Given the description of an element on the screen output the (x, y) to click on. 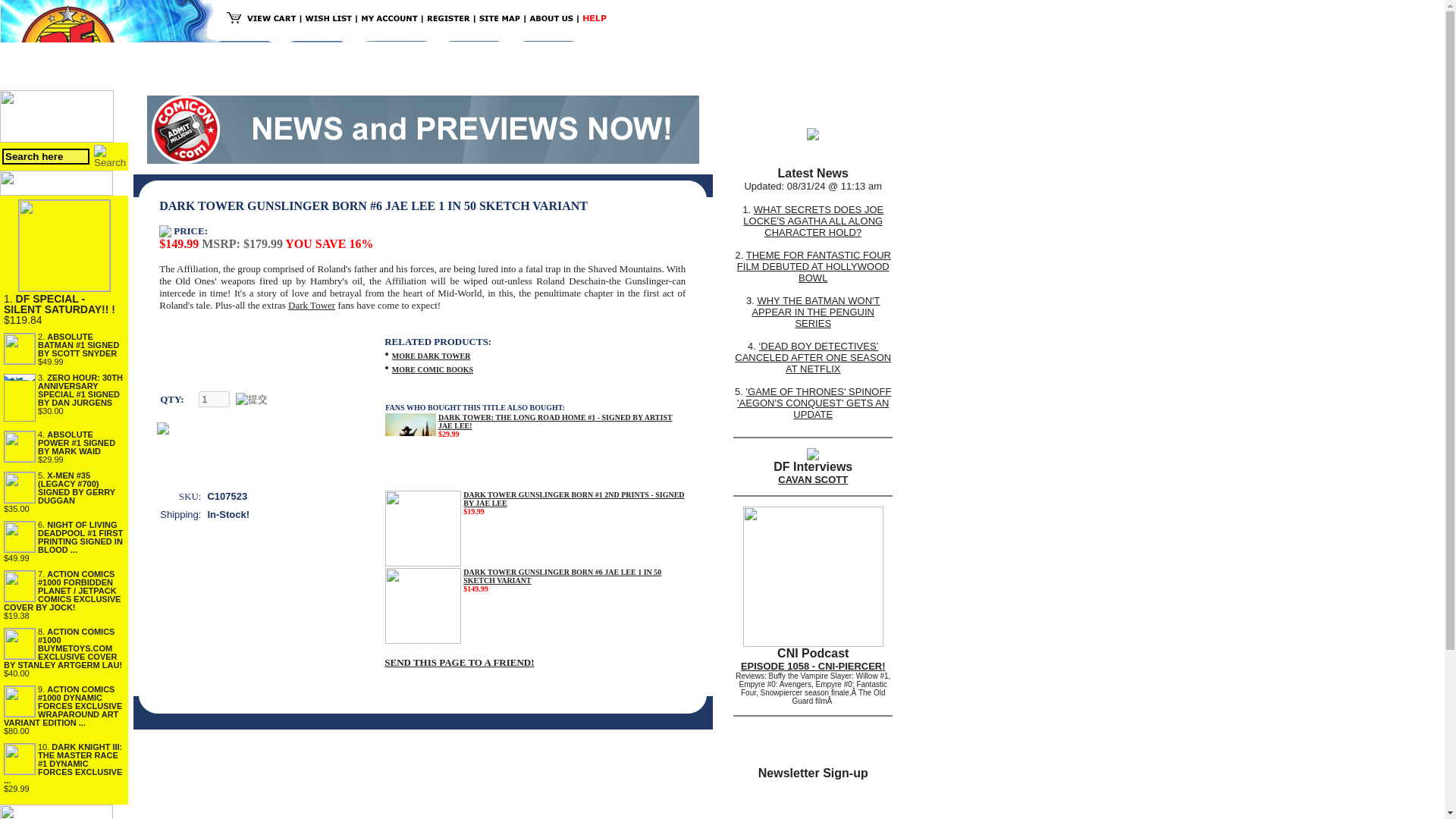
MORE COMIC BOOKS (432, 367)
MORE DARK TOWER (430, 354)
Dark Tower (311, 305)
Hey Fellow Fans! Click Here To Register! (232, 75)
DF SPECIAL - SILENT SATURDAY!! ! (59, 303)
Search here (45, 156)
Search (109, 156)
1 (214, 399)
